Given the description of an element on the screen output the (x, y) to click on. 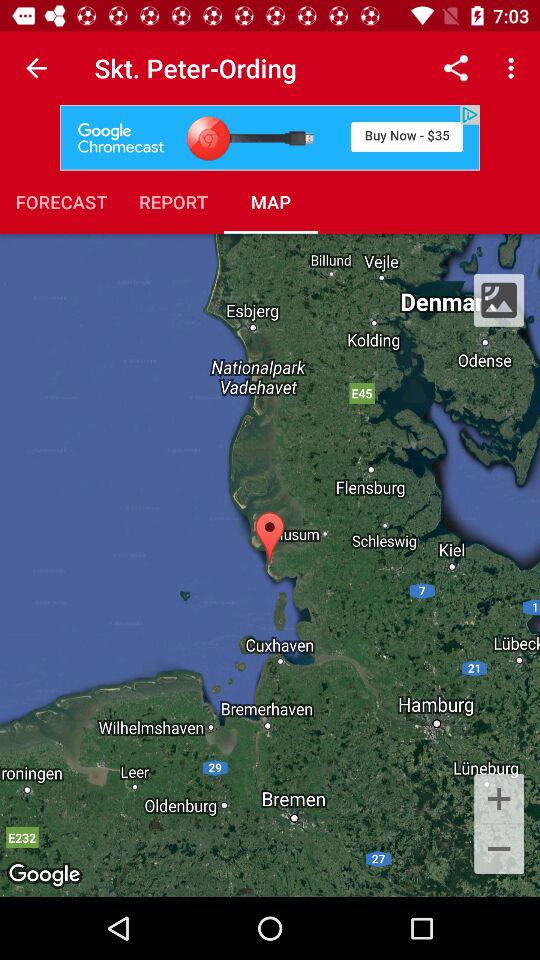
select item next to skt. peter-ording icon (455, 67)
